Given the description of an element on the screen output the (x, y) to click on. 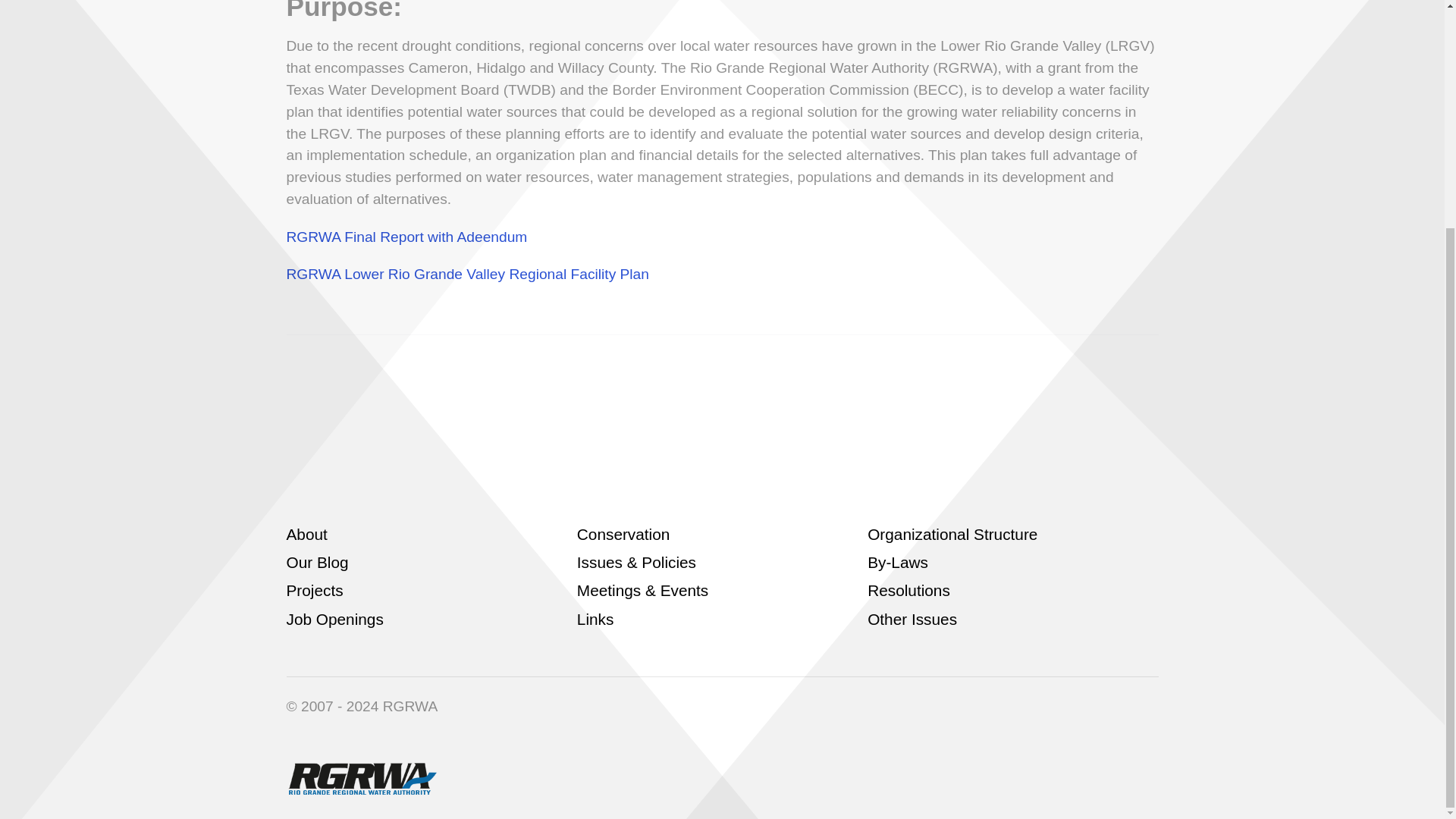
About (306, 533)
Job Openings (335, 619)
Our Blog (317, 561)
Projects (314, 589)
RGRWA Lower Rio Grande Valley Regional Facility Plan  (469, 273)
Conservation (622, 533)
RGRWA Final Report with Adeendum (406, 236)
